Given the description of an element on the screen output the (x, y) to click on. 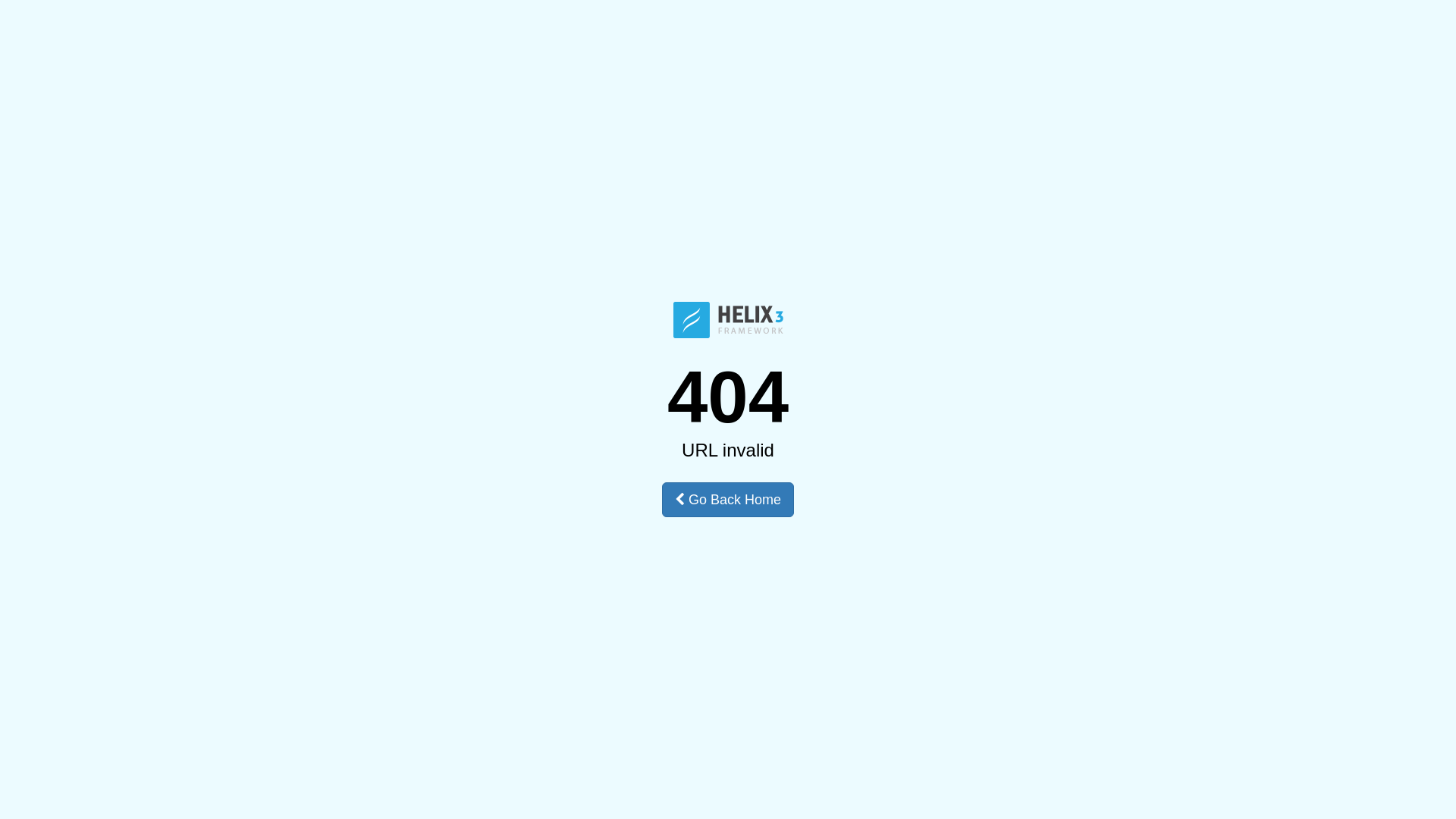
Go Back Home Element type: text (727, 499)
